Given the description of an element on the screen output the (x, y) to click on. 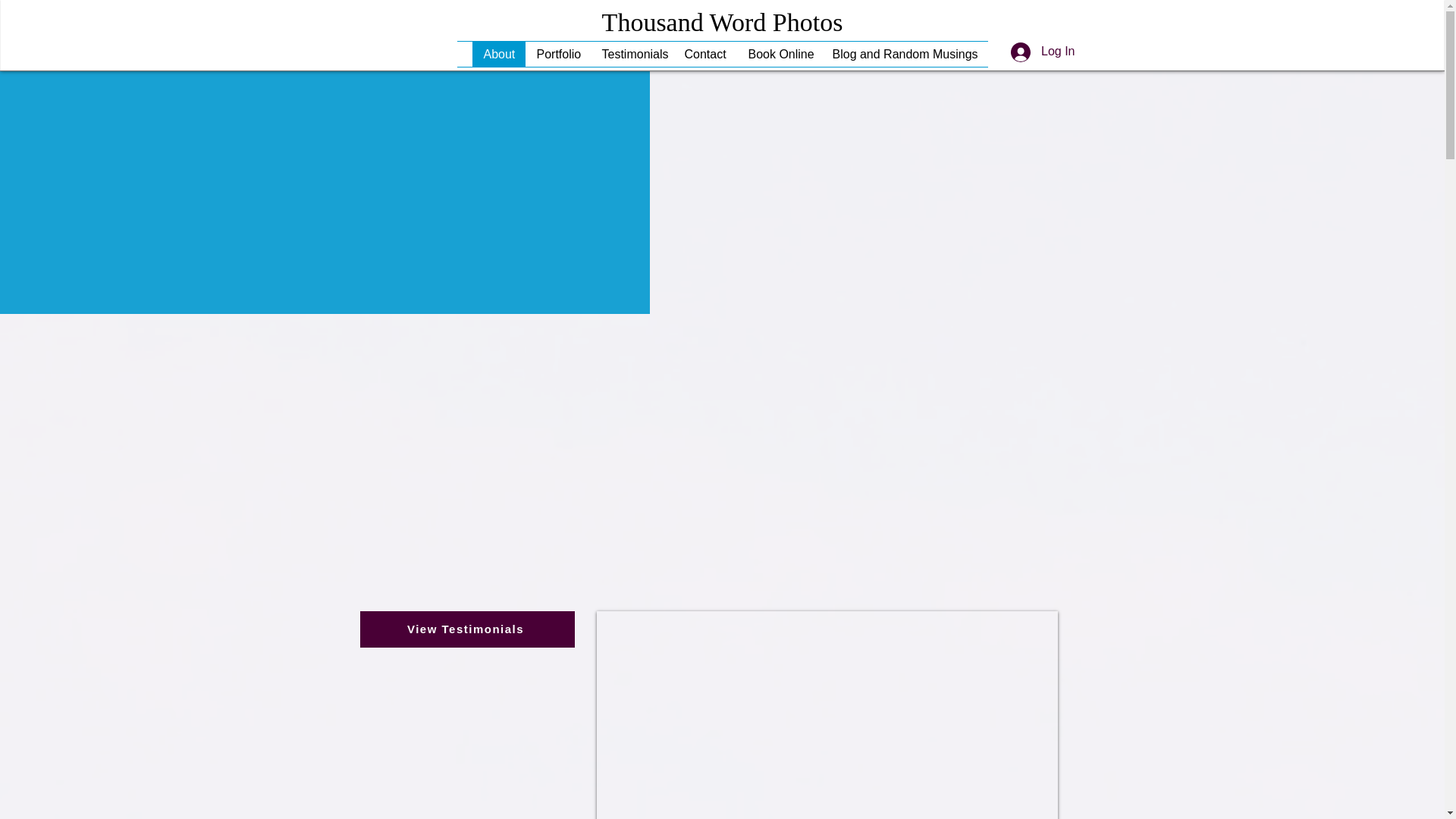
Contact (704, 53)
About (497, 53)
Thousand Word Photos (722, 22)
Testimonials (630, 53)
Log In (1042, 51)
View Testimonials (466, 628)
Book Online (778, 53)
Blog and Random Musings (896, 53)
